Given the description of an element on the screen output the (x, y) to click on. 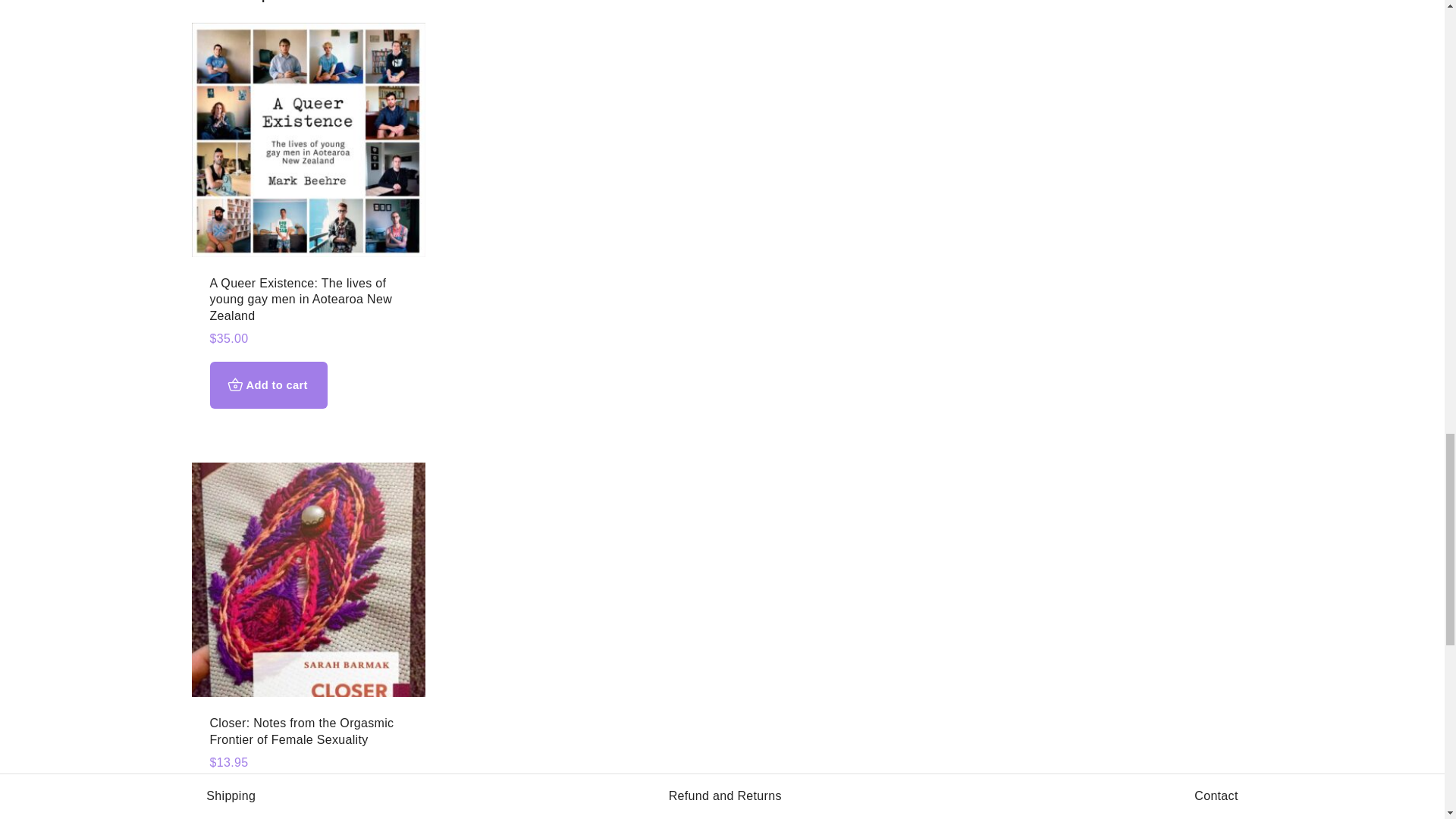
Add to cart (267, 384)
Closer: Notes from the Orgasmic Frontier of Female Sexuality (301, 730)
